Given the description of an element on the screen output the (x, y) to click on. 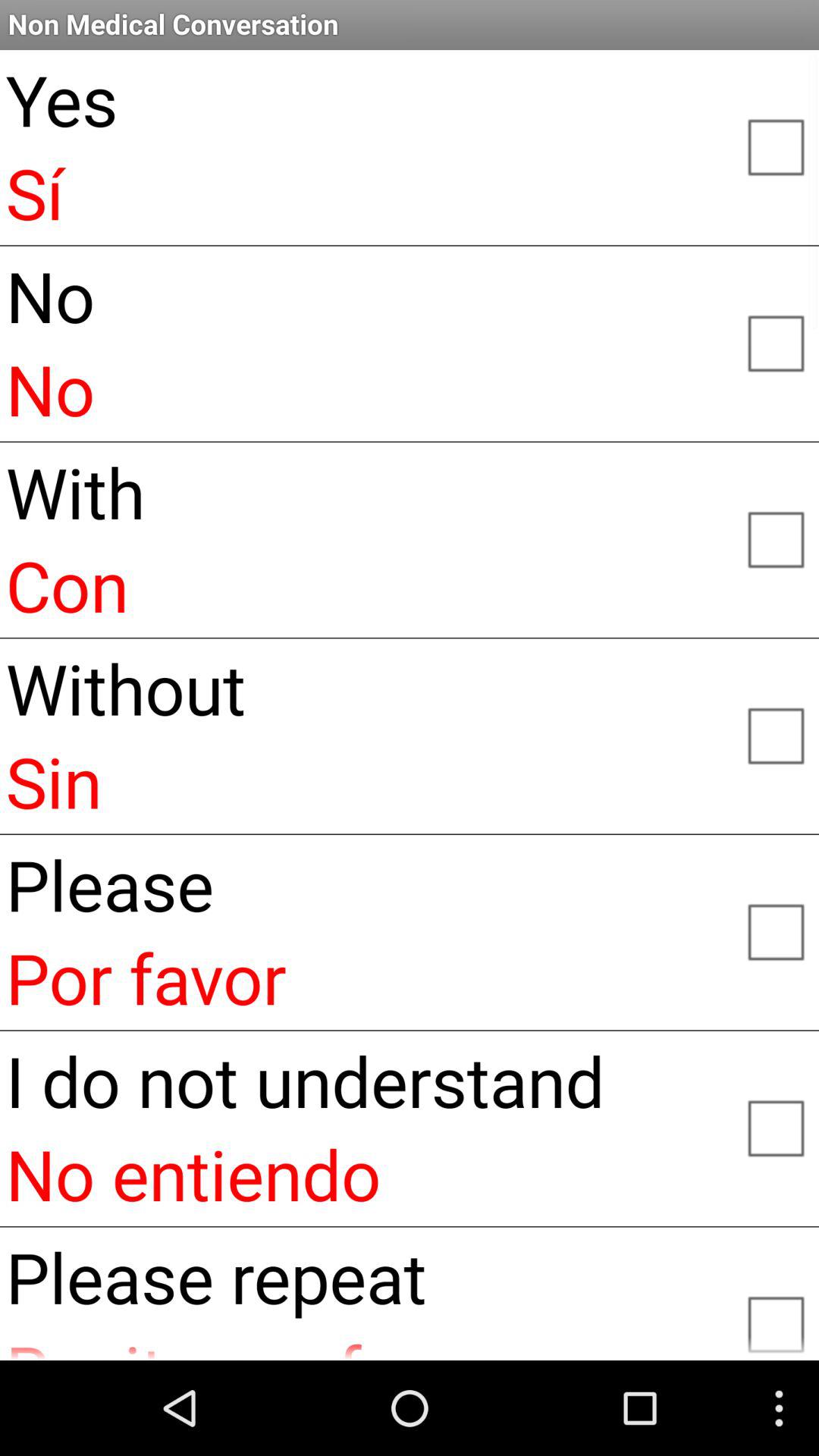
select yes/si (775, 145)
